Given the description of an element on the screen output the (x, y) to click on. 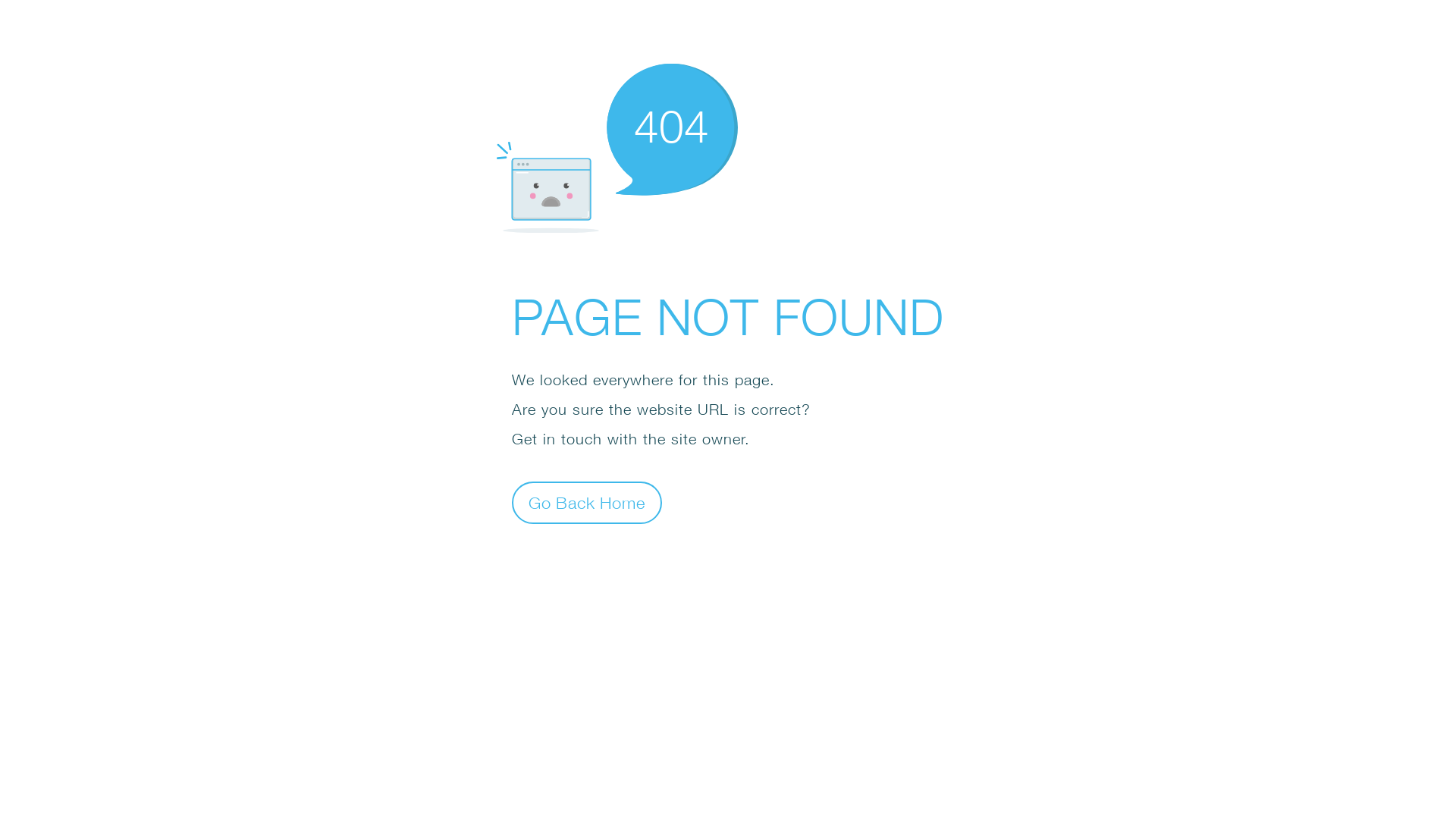
Go Back Home Element type: text (586, 502)
